Given the description of an element on the screen output the (x, y) to click on. 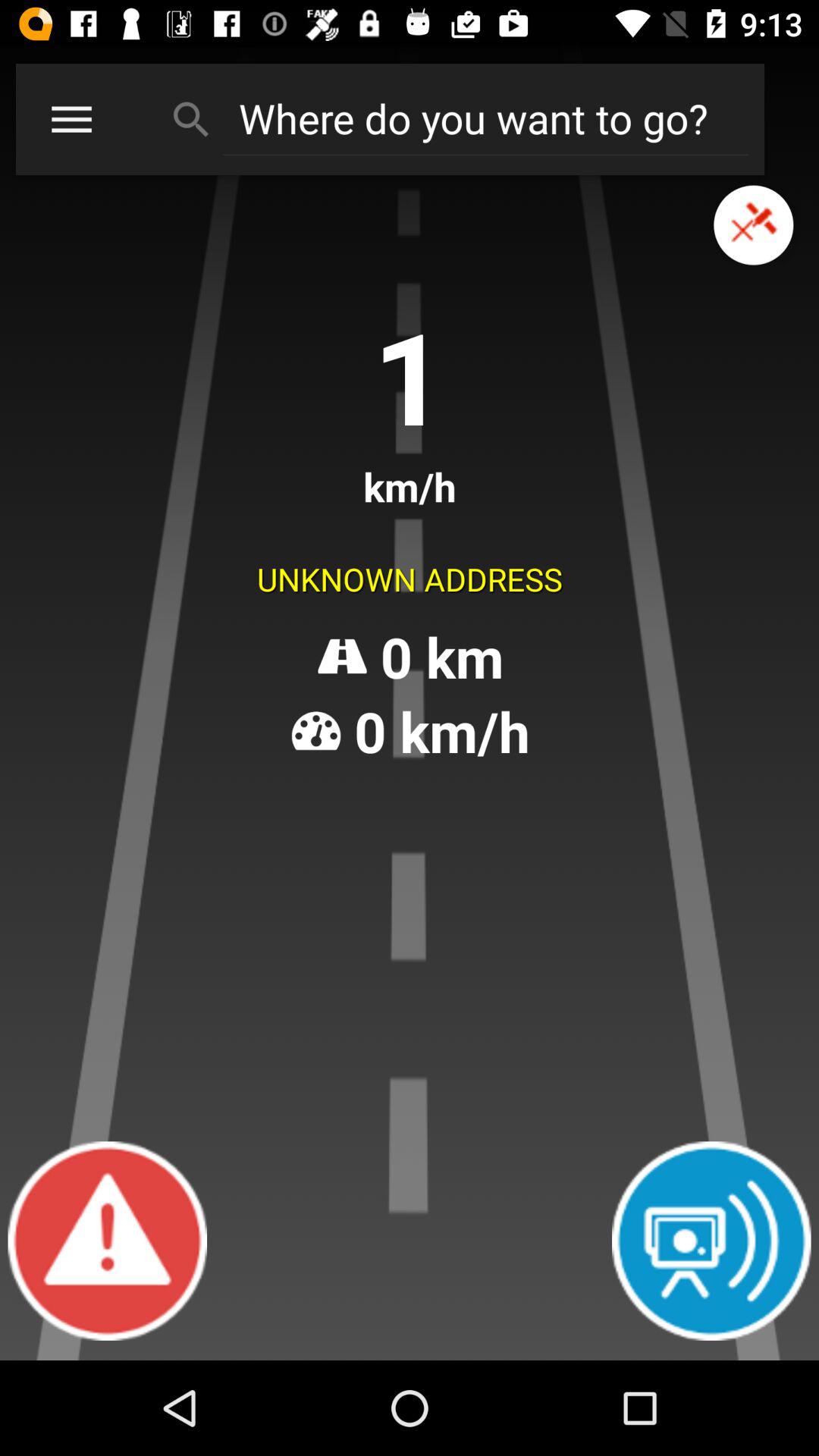
launch item above the unknown address item (71, 119)
